Given the description of an element on the screen output the (x, y) to click on. 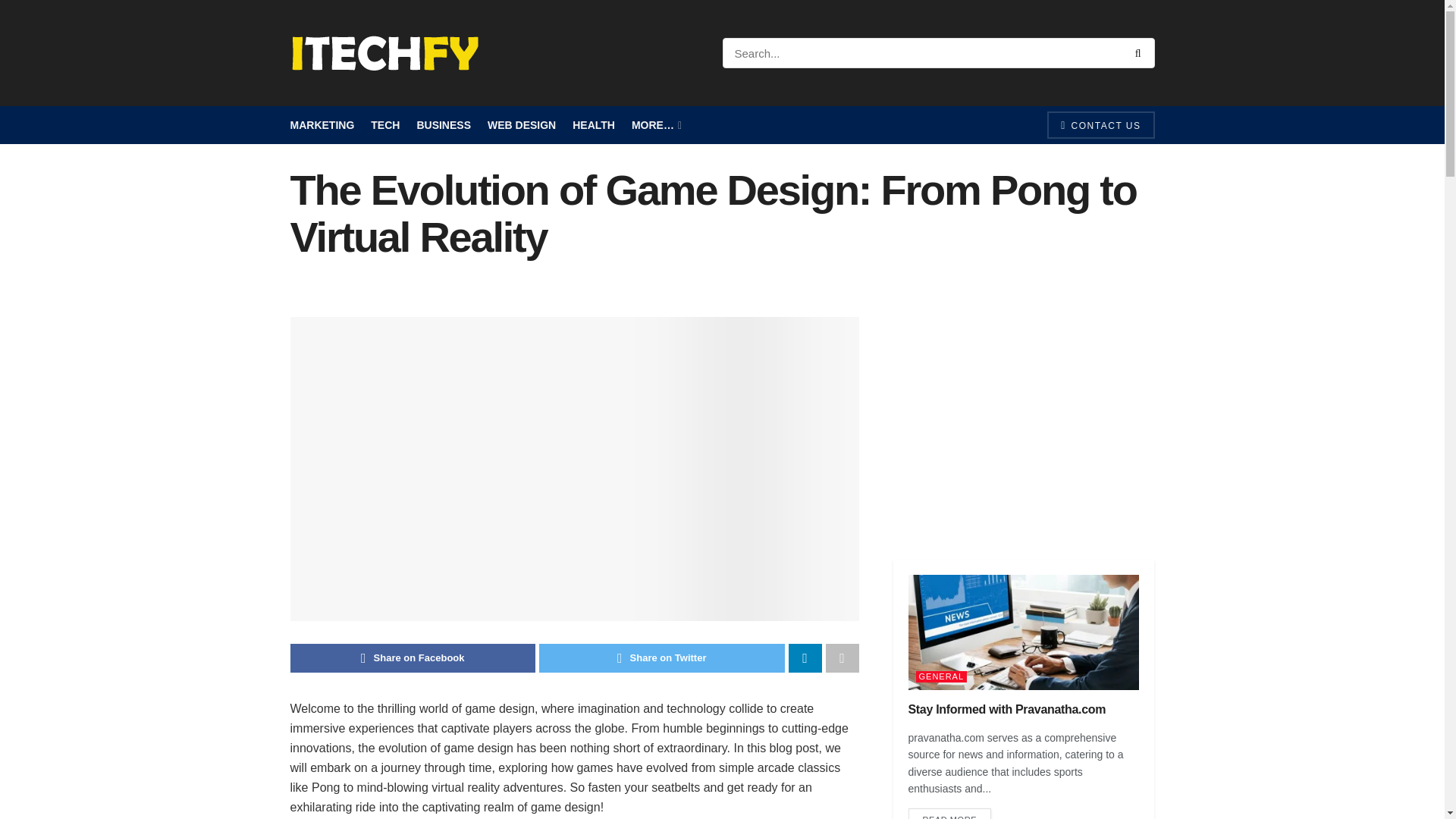
Advertisement (1023, 422)
HEALTH (593, 125)
BUSINESS (443, 125)
CONTACT US (1100, 124)
WEB DESIGN (521, 125)
MARKETING (321, 125)
